Given the description of an element on the screen output the (x, y) to click on. 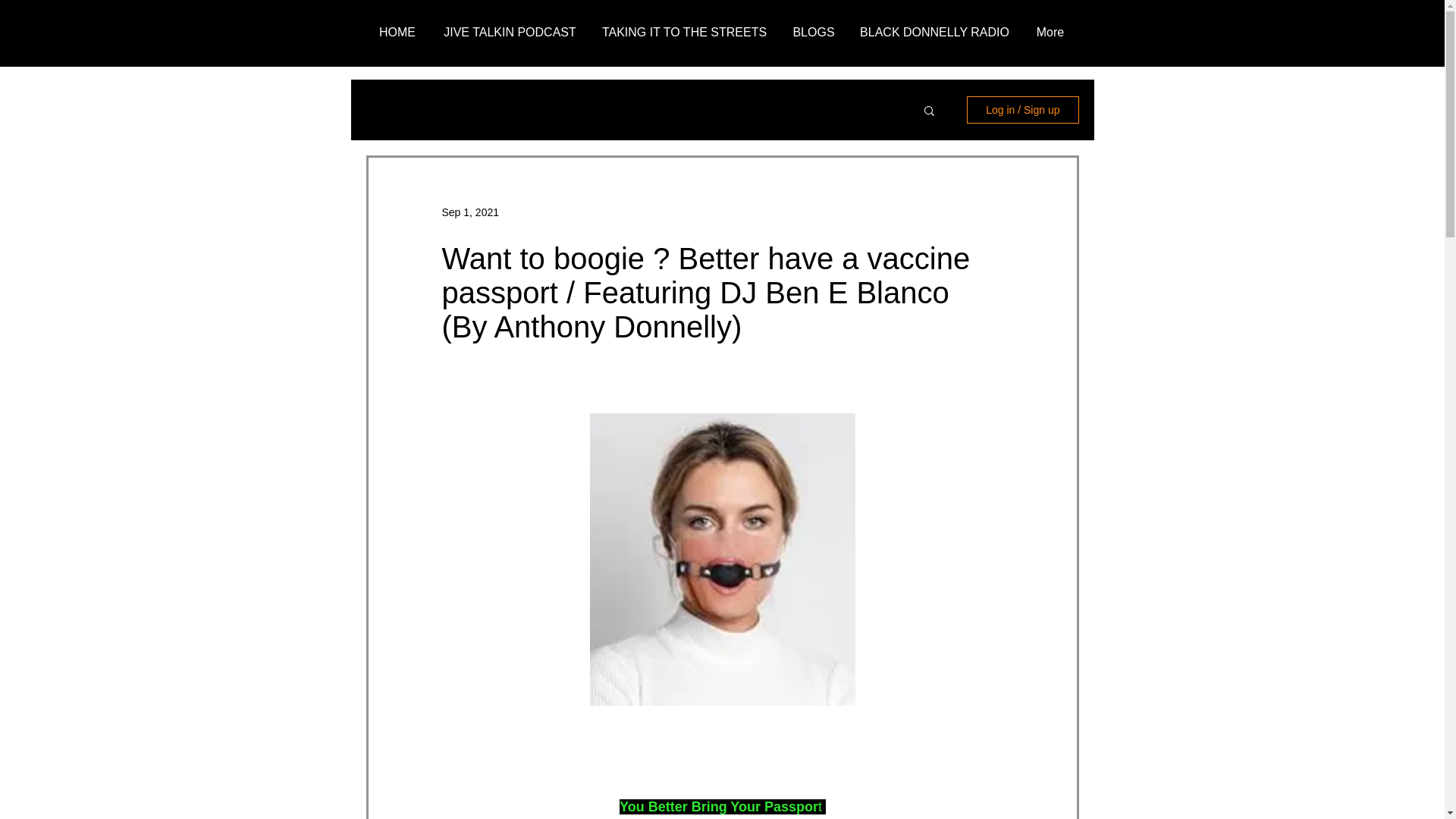
TAKING IT TO THE STREETS (683, 32)
BLACK DONNELLY RADIO (933, 32)
Sep 1, 2021 (470, 212)
BLOGS (813, 32)
HOME (396, 32)
JIVE TALKIN PODCAST (509, 32)
